Given the description of an element on the screen output the (x, y) to click on. 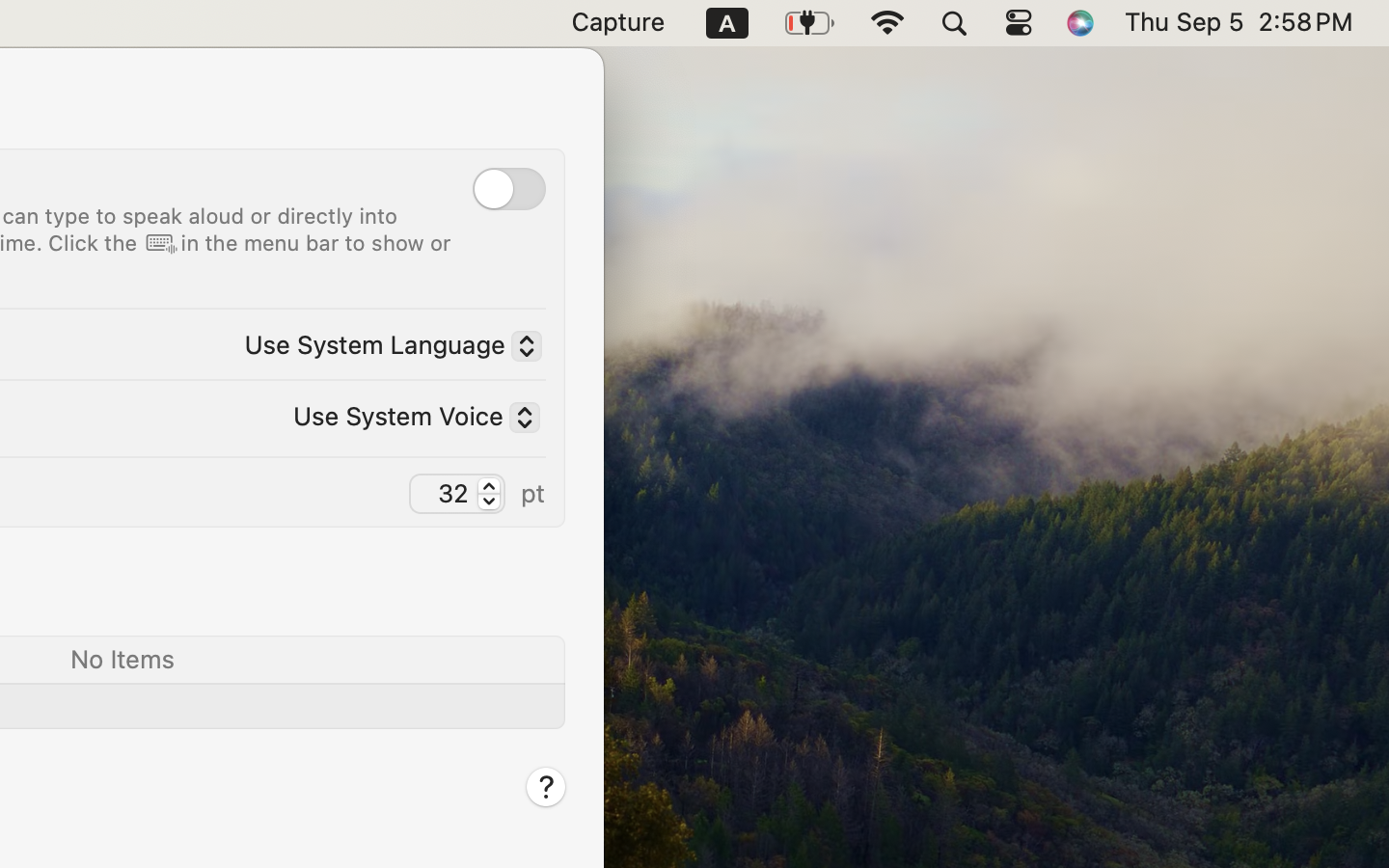
Use System Voice Element type: AXPopUpButton (408, 419)
pt Element type: AXStaticText (532, 491)
